Given the description of an element on the screen output the (x, y) to click on. 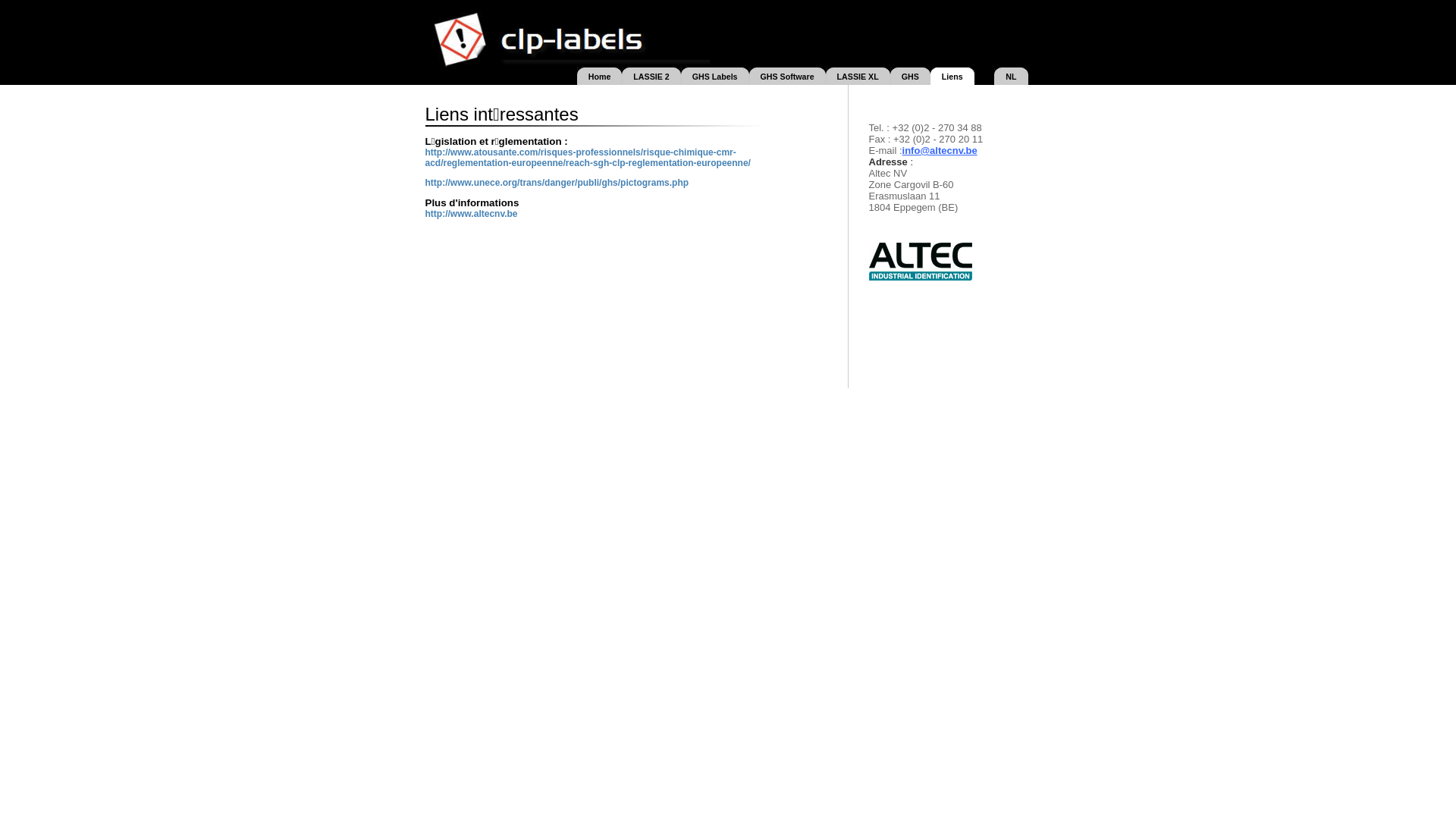
Home Element type: text (599, 75)
GHS Software Element type: text (787, 75)
LASSIE 2 Element type: text (650, 75)
GHS Labels Element type: text (714, 75)
info@altecnv.be Element type: text (939, 150)
GHS Element type: text (910, 75)
NL Element type: text (1010, 75)
http://www.altecnv.be Element type: text (470, 213)
http://www.unece.org/trans/danger/publi/ghs/pictograms.php Element type: text (556, 182)
Liens Element type: text (952, 75)
LASSIE XL Element type: text (857, 75)
